Given the description of an element on the screen output the (x, y) to click on. 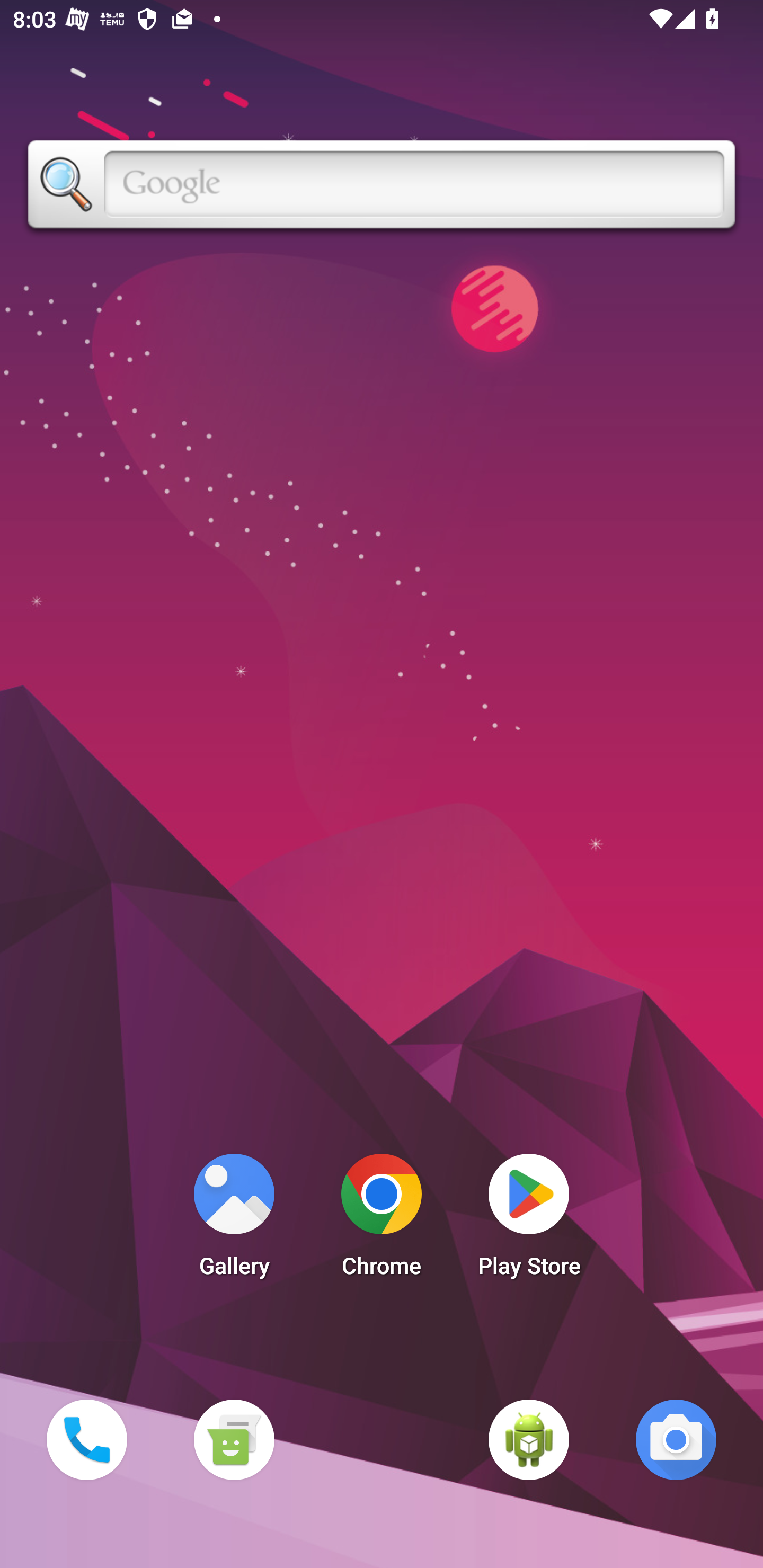
Gallery (233, 1220)
Chrome (381, 1220)
Play Store (528, 1220)
Phone (86, 1439)
Messaging (233, 1439)
WebView Browser Tester (528, 1439)
Camera (676, 1439)
